Given the description of an element on the screen output the (x, y) to click on. 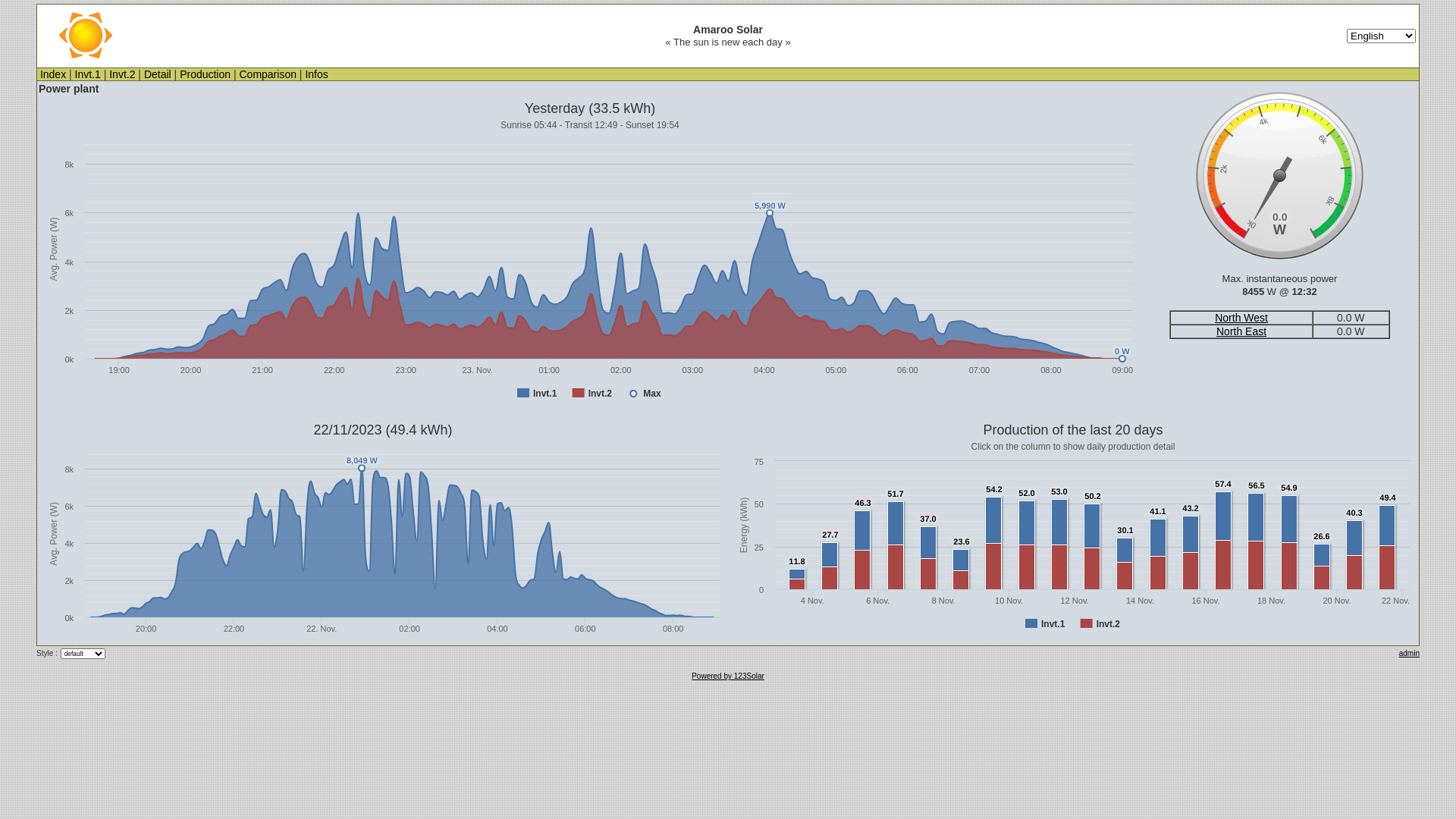
Powered by 123Solar Element type: text (727, 675)
Invt.1 Element type: text (87, 74)
admin Element type: text (1409, 653)
Comparison Element type: text (266, 74)
Production Element type: text (204, 74)
North West Element type: text (1240, 317)
Infos Element type: text (315, 74)
Invt.2 Element type: text (121, 74)
Index Element type: text (52, 74)
Detail Element type: text (157, 74)
North East Element type: text (1241, 331)
